Given the description of an element on the screen output the (x, y) to click on. 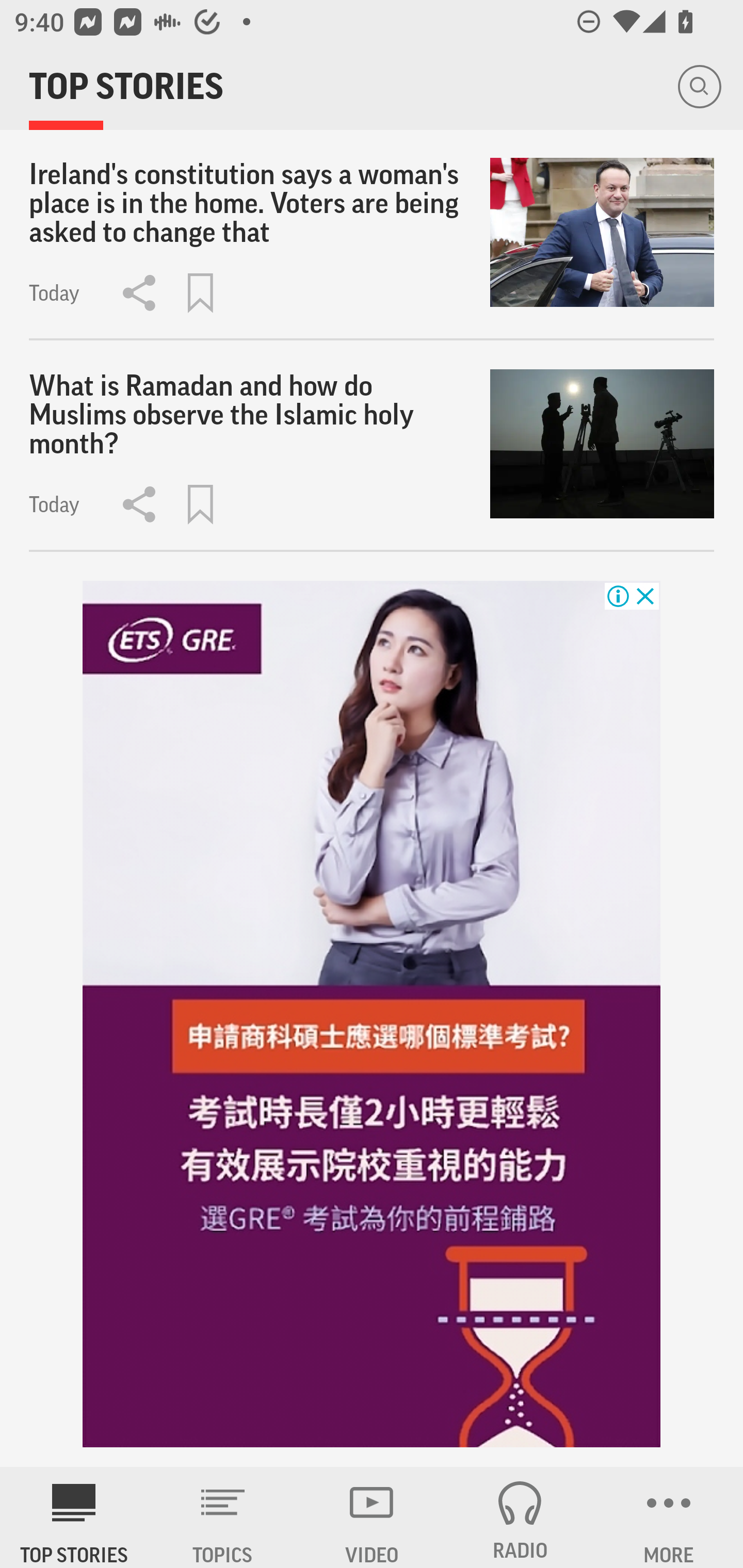
about (371, 1013)
AP News TOP STORIES (74, 1517)
TOPICS (222, 1517)
VIDEO (371, 1517)
RADIO (519, 1517)
MORE (668, 1517)
